Given the description of an element on the screen output the (x, y) to click on. 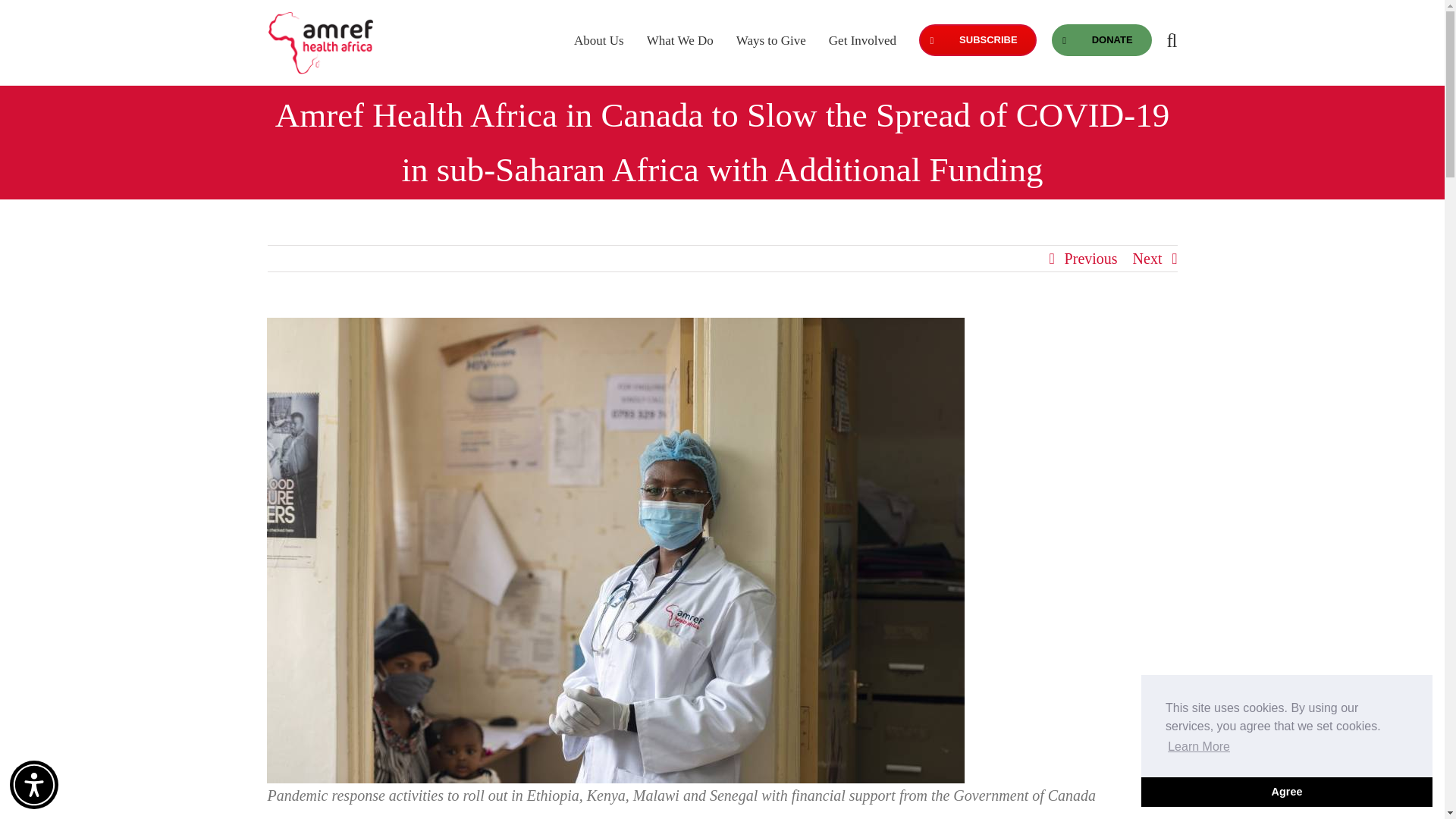
Agree (1286, 791)
SUBSCRIBE (977, 38)
DONATE (1101, 38)
What We Do (679, 38)
Ways to Give (771, 38)
Learn More (1198, 746)
About Us (598, 38)
Get Involved (862, 38)
Accessibility Menu (34, 784)
